Given the description of an element on the screen output the (x, y) to click on. 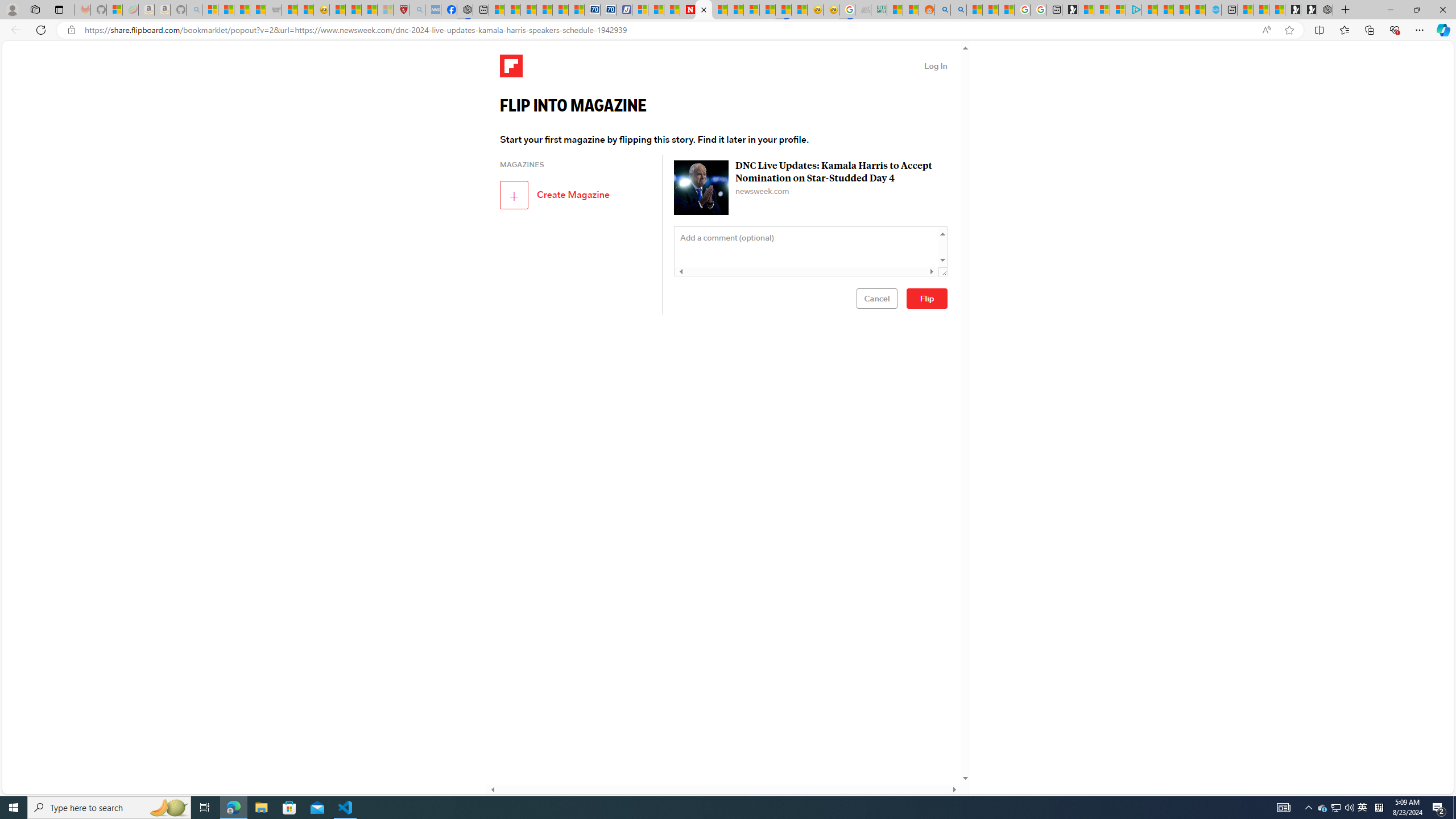
Science - MSN (368, 9)
Microsoft Start Gaming (1070, 9)
NCL Adult Asthma Inhaler Choice Guideline - Sleeping (432, 9)
Cheap Car Rentals - Save70.com (592, 9)
Home | Sky Blue Bikes - Sky Blue Bikes (1213, 9)
MSNBC - MSN (894, 9)
